Given the description of an element on the screen output the (x, y) to click on. 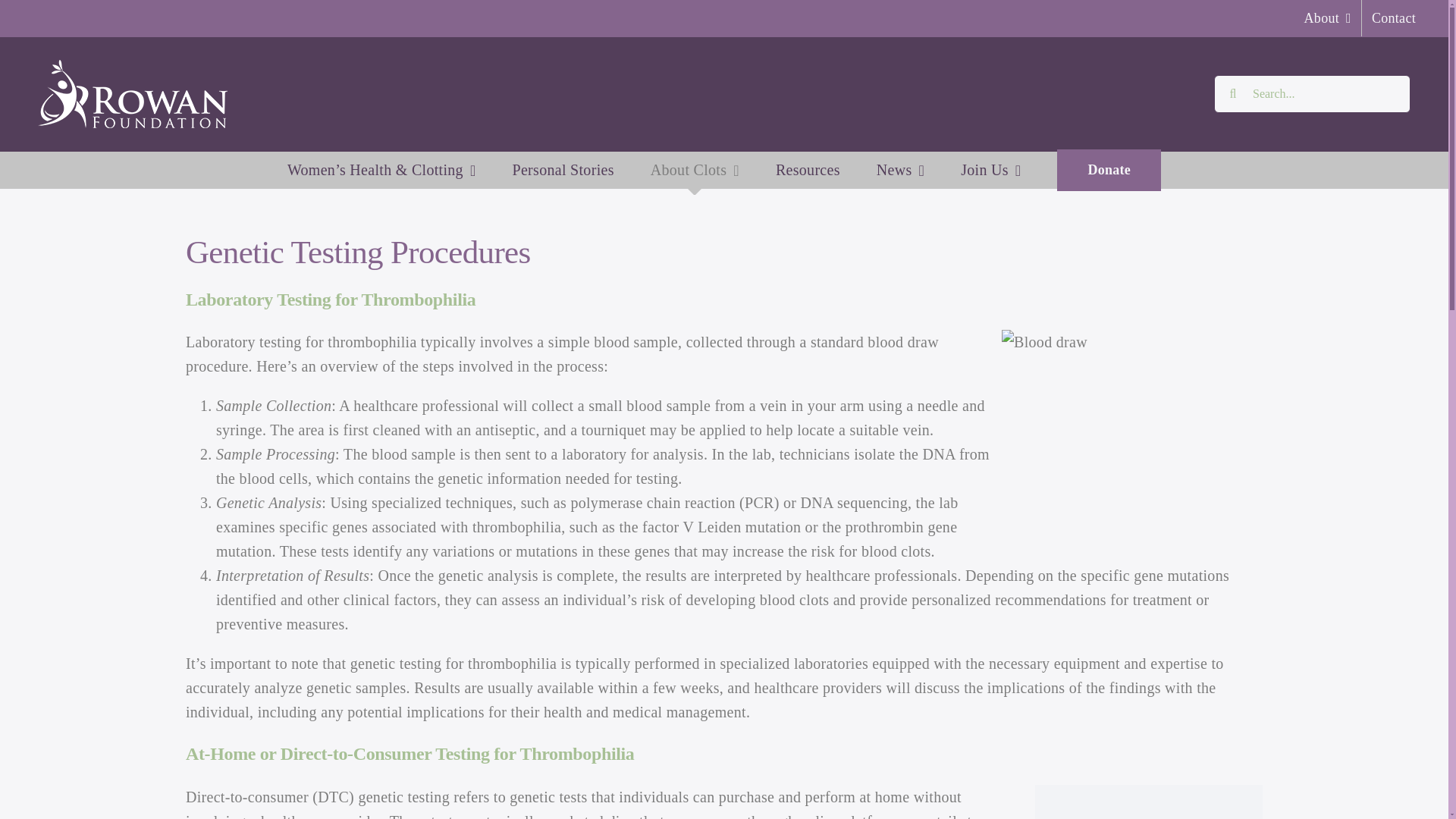
Personal Stories (563, 169)
About (1327, 18)
About Clots (694, 169)
News (900, 169)
Donate (1108, 169)
Join Us (990, 169)
Resources (808, 169)
Contact (1393, 18)
